Given the description of an element on the screen output the (x, y) to click on. 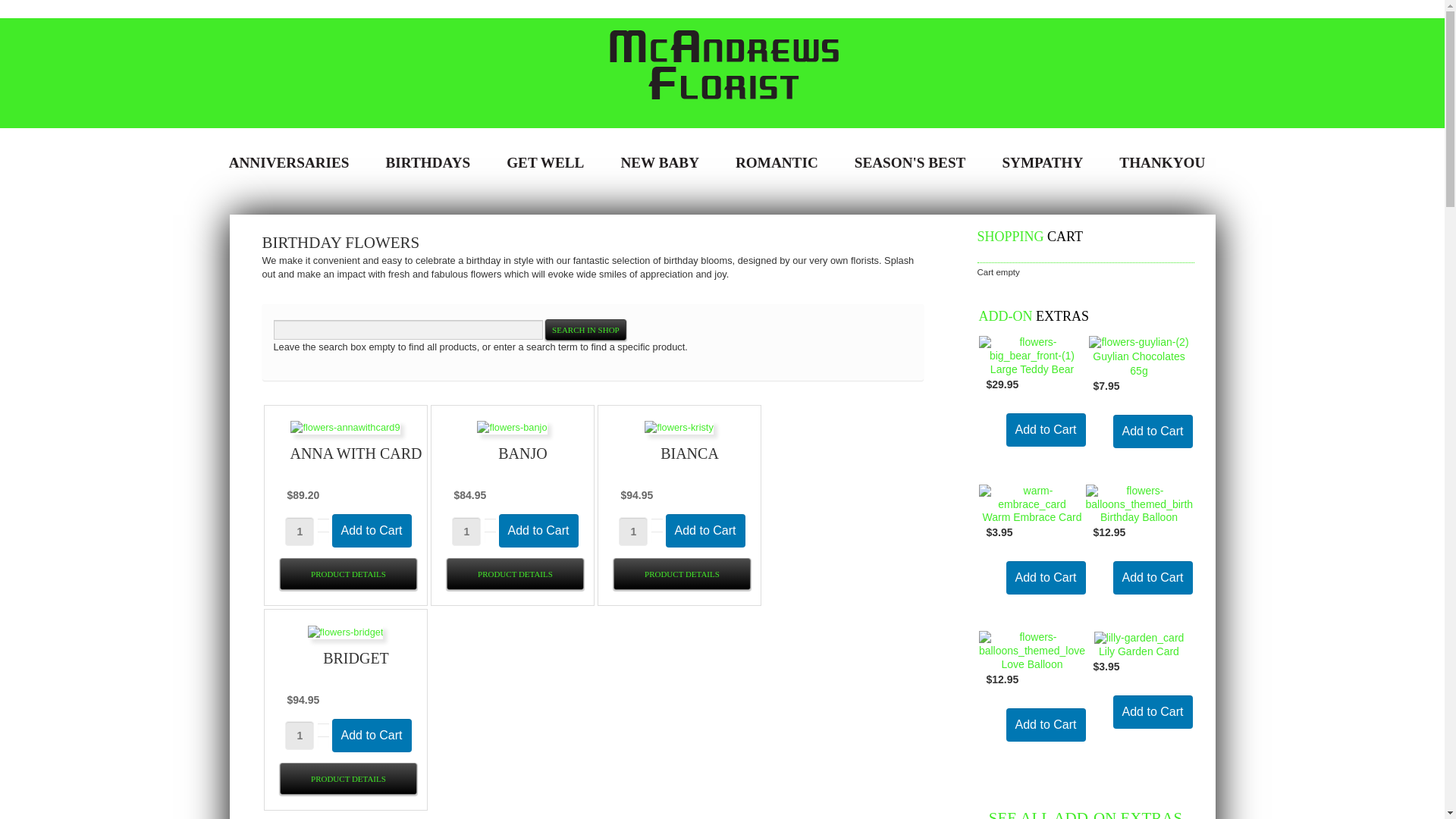
Add to Cart Element type: text (371, 530)
ROMANTIC Element type: text (776, 162)
BANJO Element type: text (522, 453)
Warm Embrace Card Element type: text (1032, 517)
ROMANTIC Element type: text (781, 162)
PRODUCT DETAILS Element type: text (348, 573)
BIANCA Element type: text (689, 453)
Add to Cart Element type: text (1045, 577)
PRODUCT DETAILS Element type: text (348, 778)
SYMPATHY Element type: text (1041, 162)
Bridget Element type: hover (345, 631)
PRODUCT DETAILS Element type: text (681, 573)
Add to Cart Element type: hover (1045, 577)
Birthday Balloon Element type: text (1138, 517)
Large Teddy Bear Element type: hover (1031, 348)
BRIDGET Element type: text (356, 657)
SEASON'S BEST Element type: text (910, 162)
ANNIVERSARIES Element type: text (289, 162)
SEASON'S BEST Element type: text (915, 162)
Add to Cart Element type: hover (371, 530)
GET WELL Element type: text (544, 162)
GET WELL Element type: text (550, 162)
Birthday Balloon Element type: hover (1138, 496)
Add to Cart Element type: hover (1152, 577)
PRODUCT DETAILS Element type: text (514, 573)
Add to Cart Element type: text (371, 735)
Love Balloon Element type: hover (1031, 643)
Search in shop Element type: text (585, 329)
Add to Cart Element type: text (1152, 431)
NEW BABY Element type: text (659, 162)
Add to Cart Element type: hover (371, 735)
Anna with Card Element type: hover (344, 427)
Add to Cart Element type: text (1045, 724)
NEW BABY Element type: text (664, 162)
Add to Cart Element type: text (1152, 711)
Add to Cart Element type: hover (538, 530)
THANKYOU Element type: text (1167, 162)
Warm Embrace Card Element type: hover (1031, 496)
Banjo Element type: hover (511, 427)
BIRTHDAYS Element type: text (433, 162)
Add to Cart Element type: text (705, 530)
THANKYOU Element type: text (1161, 162)
Guylian Chocolates 65g Element type: hover (1138, 341)
Add to Cart Element type: hover (1152, 431)
ANNIVERSARIES Element type: text (294, 162)
Add to Cart Element type: hover (1045, 429)
Add to Cart Element type: text (538, 530)
Add to Cart Element type: hover (1045, 724)
BIRTHDAYS Element type: text (427, 162)
ANNA WITH CARD Element type: text (355, 453)
Large Teddy Bear Element type: text (1031, 369)
Add to Cart Element type: text (1045, 429)
Add to Cart Element type: hover (1152, 711)
Add to Cart Element type: hover (705, 530)
Lily Garden Card Element type: text (1138, 651)
Guylian Chocolates 65g Element type: text (1138, 363)
Lily Garden Card Element type: hover (1139, 636)
Bianca Element type: hover (678, 427)
Love Balloon Element type: text (1032, 664)
Add to Cart Element type: text (1152, 577)
SYMPATHY Element type: text (1047, 162)
